Given the description of an element on the screen output the (x, y) to click on. 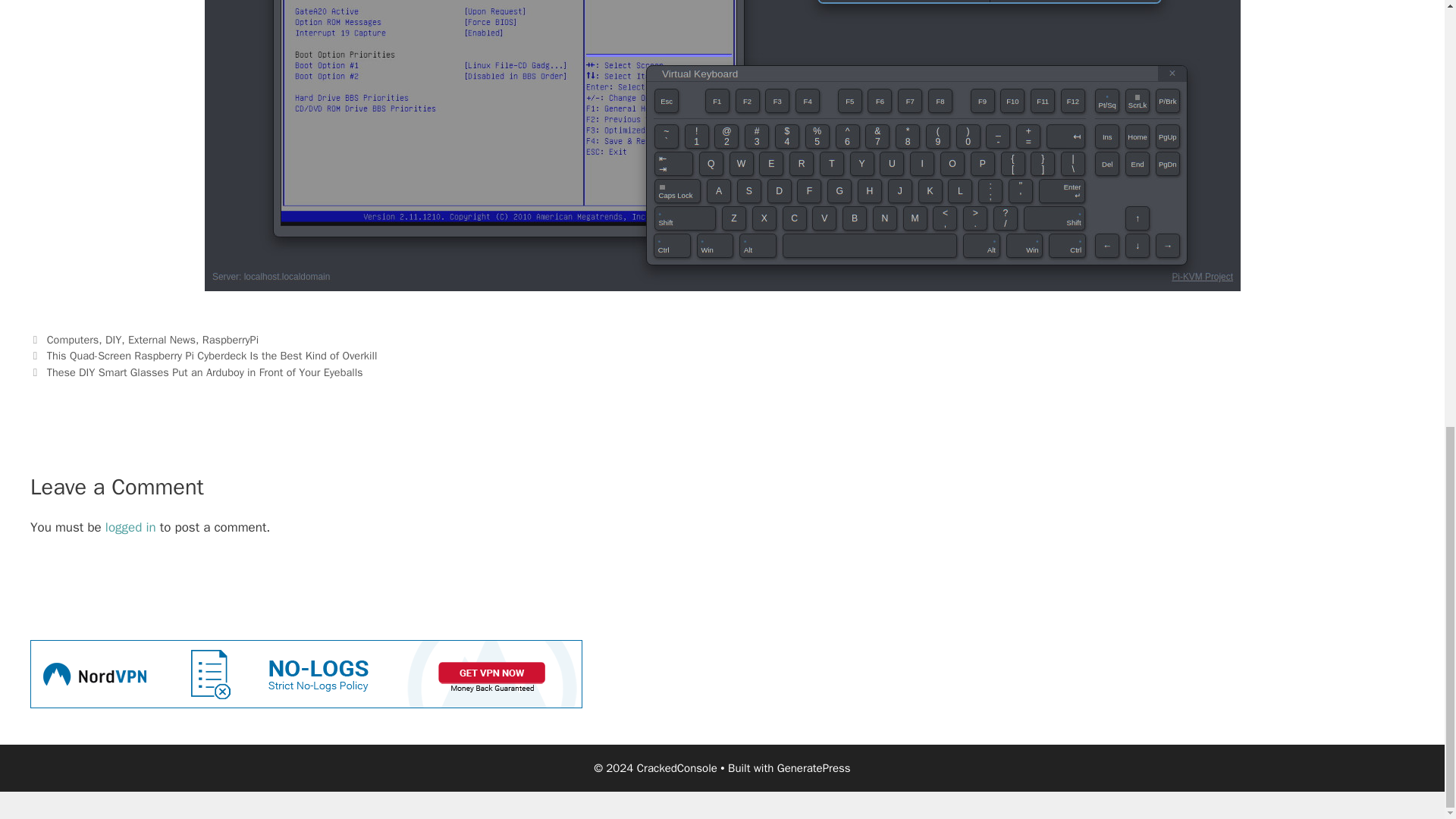
Computers (72, 339)
logged in (129, 527)
External News (161, 339)
RaspberryPi (230, 339)
Scroll back to top (1406, 643)
GeneratePress (813, 767)
DIY (112, 339)
